Given the description of an element on the screen output the (x, y) to click on. 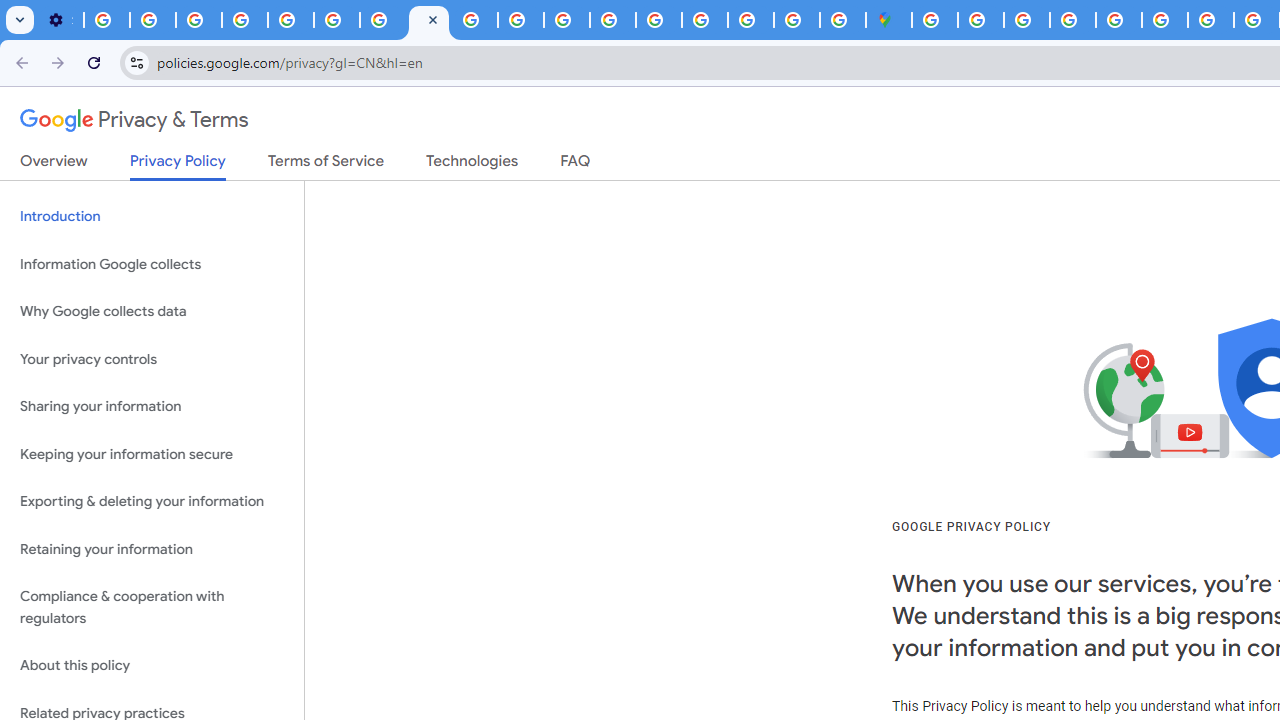
Sign in - Google Accounts (934, 20)
Your privacy controls (152, 358)
Retaining your information (152, 548)
Privacy Help Center - Policies Help (290, 20)
